Given the description of an element on the screen output the (x, y) to click on. 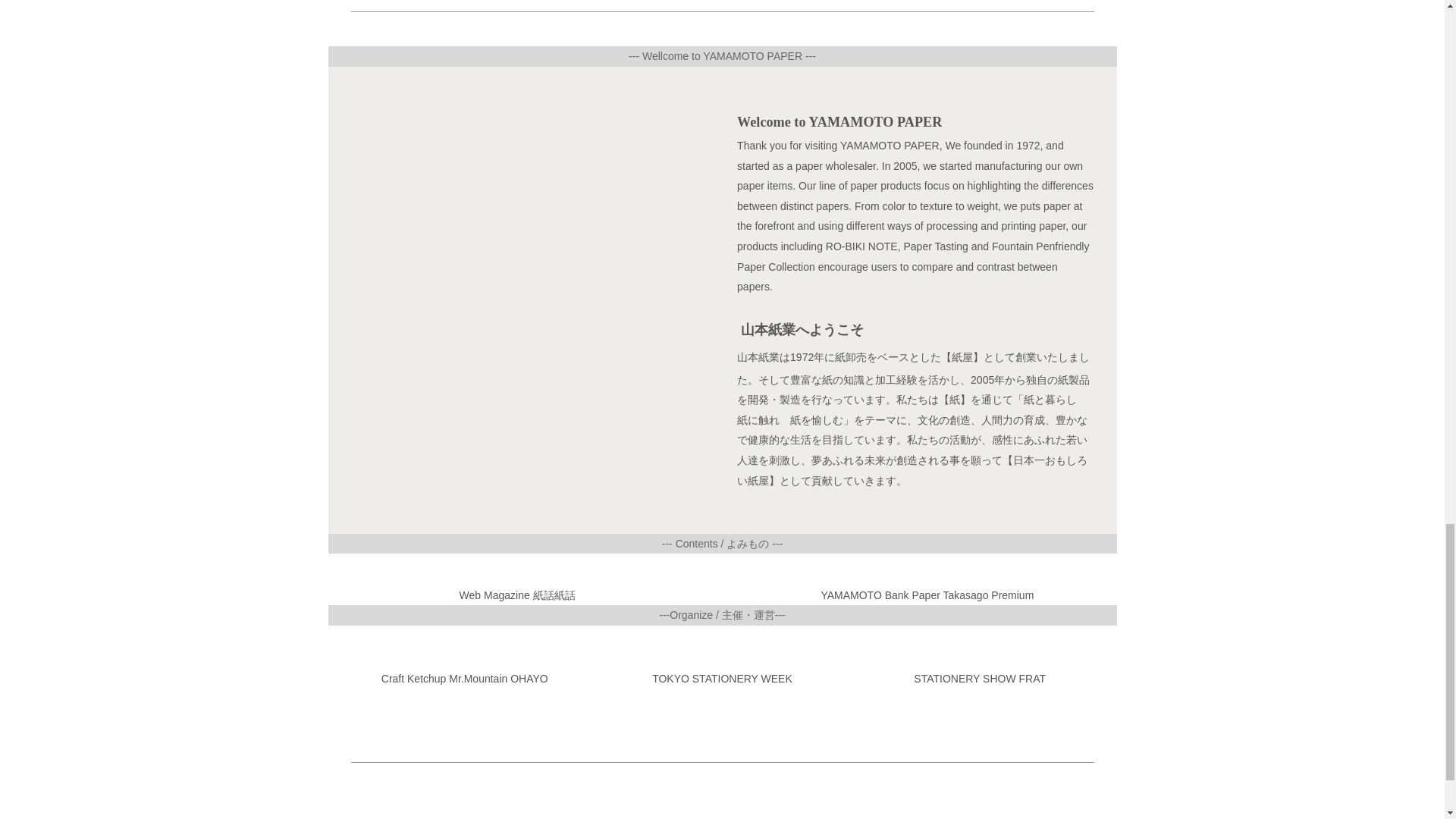
TOKYO STATIONERY WEEK (722, 678)
YAMAMOTO Bank Paper Takasago Premium (927, 594)
Craft Ketchup Mr.Mountain OHAYO (464, 678)
STATIONERY SHOW FRAT (979, 678)
